Given the description of an element on the screen output the (x, y) to click on. 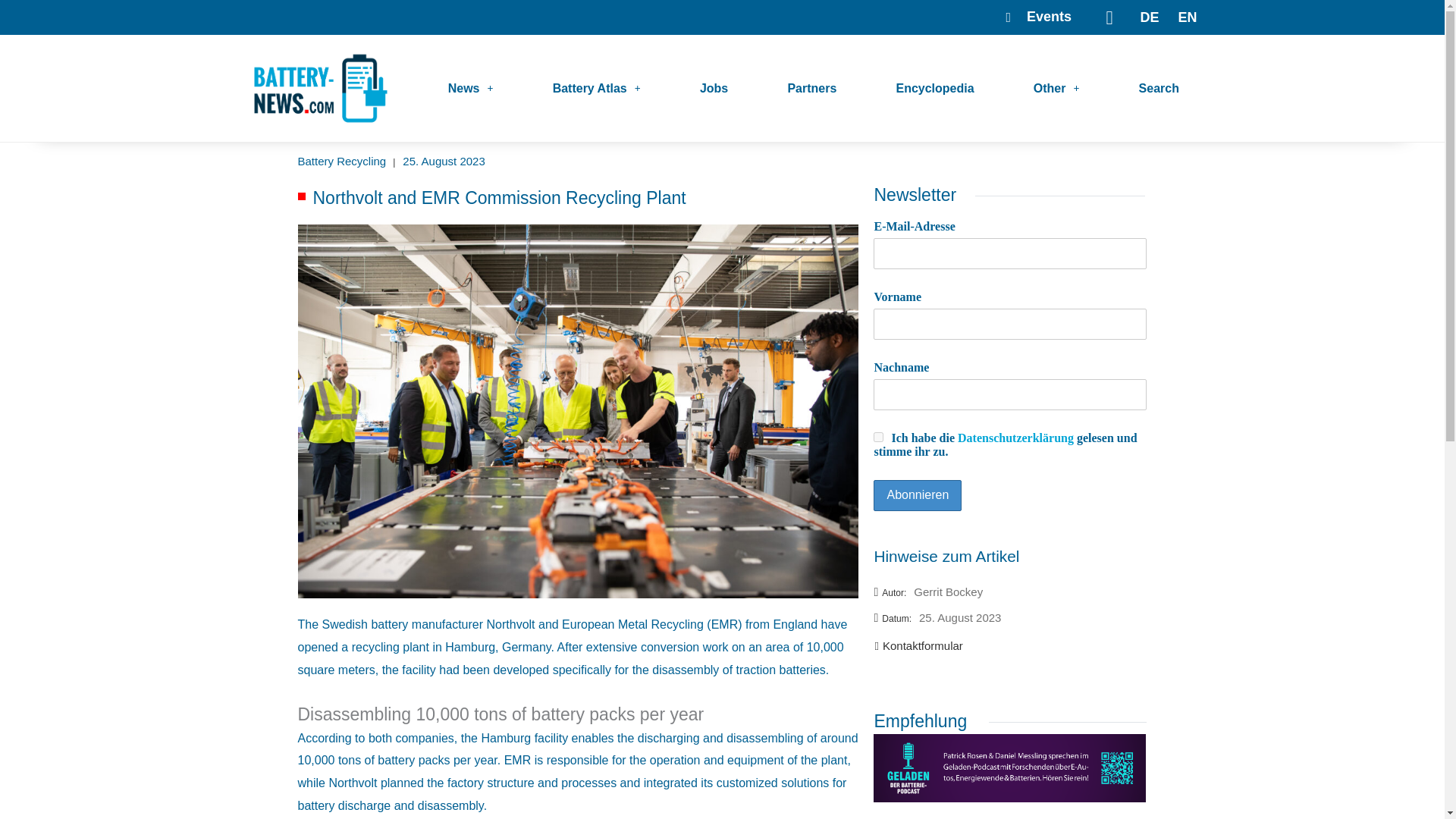
1 (878, 437)
Events (1029, 16)
EN (1183, 17)
Partners (811, 88)
News (470, 88)
Battery Atlas (596, 88)
Search (1158, 88)
Abonnieren (916, 495)
Abonnieren (916, 495)
Kontaktformular (917, 645)
DE (1145, 17)
Encyclopedia (935, 88)
Jobs (714, 88)
Other (1056, 88)
